Given the description of an element on the screen output the (x, y) to click on. 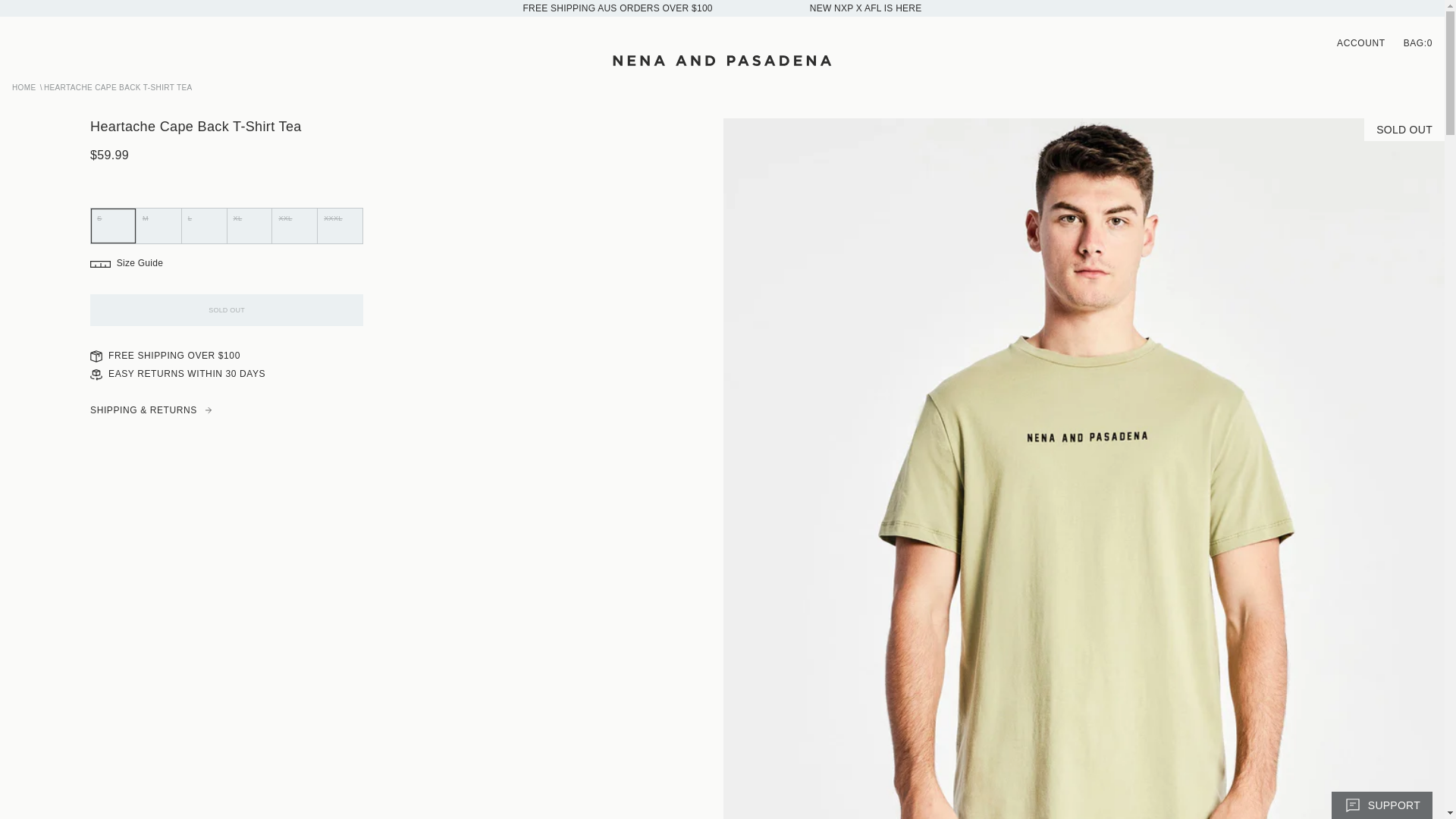
XL (98, 215)
M (98, 215)
XXXL (98, 215)
XXL (98, 215)
Tea (98, 206)
Shipping (617, 8)
L (98, 215)
NEW NXP X AFL IS HERE (865, 8)
Shop AFL Clothes. Support Your Team in Style. (865, 8)
S (98, 215)
